Given the description of an element on the screen output the (x, y) to click on. 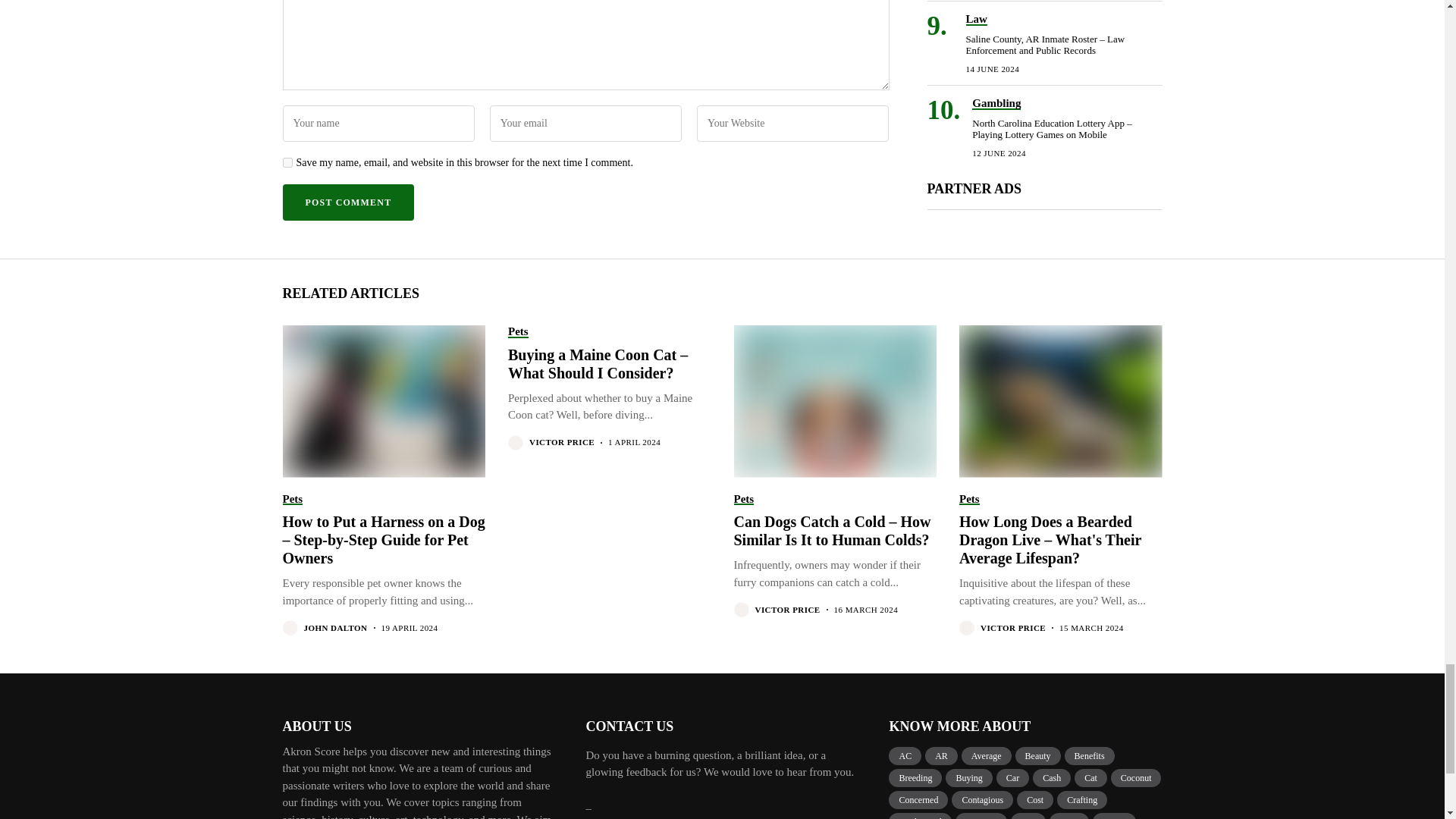
yes (287, 162)
Posts by Victor Price (1012, 628)
Post Comment (347, 202)
Posts by Victor Price (561, 442)
Posts by John Dalton (334, 628)
Posts by Victor Price (788, 610)
